Given the description of an element on the screen output the (x, y) to click on. 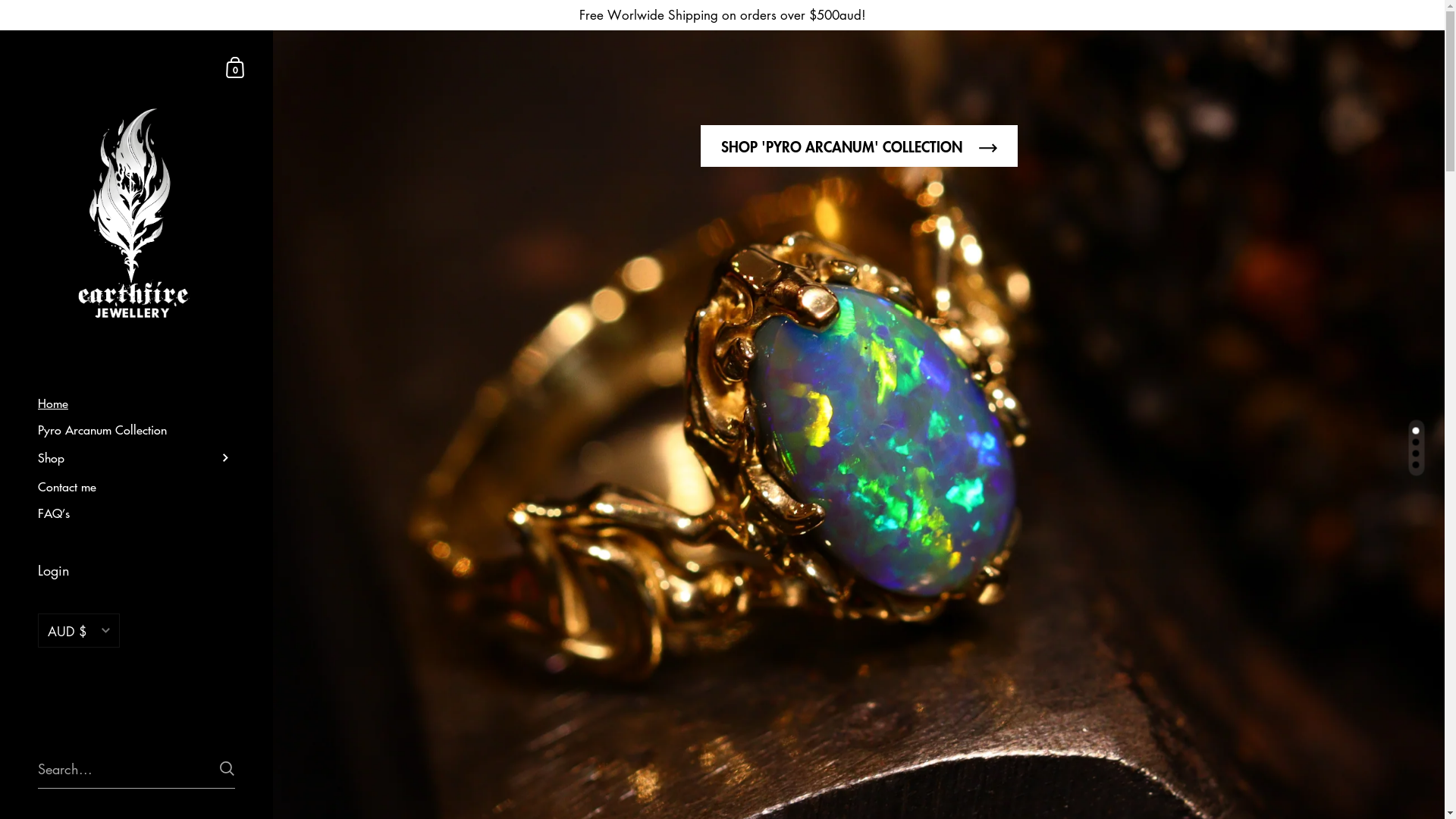
Login Element type: text (136, 571)
SHOP 'PYRO ARCANUM' COLLECTION Element type: text (858, 145)
Home Element type: text (136, 402)
Pyro Arcanum Collection Element type: text (136, 429)
ALL Element type: text (78, 724)
Shop Element type: text (136, 457)
ANG Element type: text (78, 785)
Contact me Element type: text (136, 486)
0 Element type: text (235, 66)
Free Worlwide Shipping on orders over $500aud! Element type: text (722, 15)
AFN Element type: text (78, 693)
AMD Element type: text (78, 754)
